Given the description of an element on the screen output the (x, y) to click on. 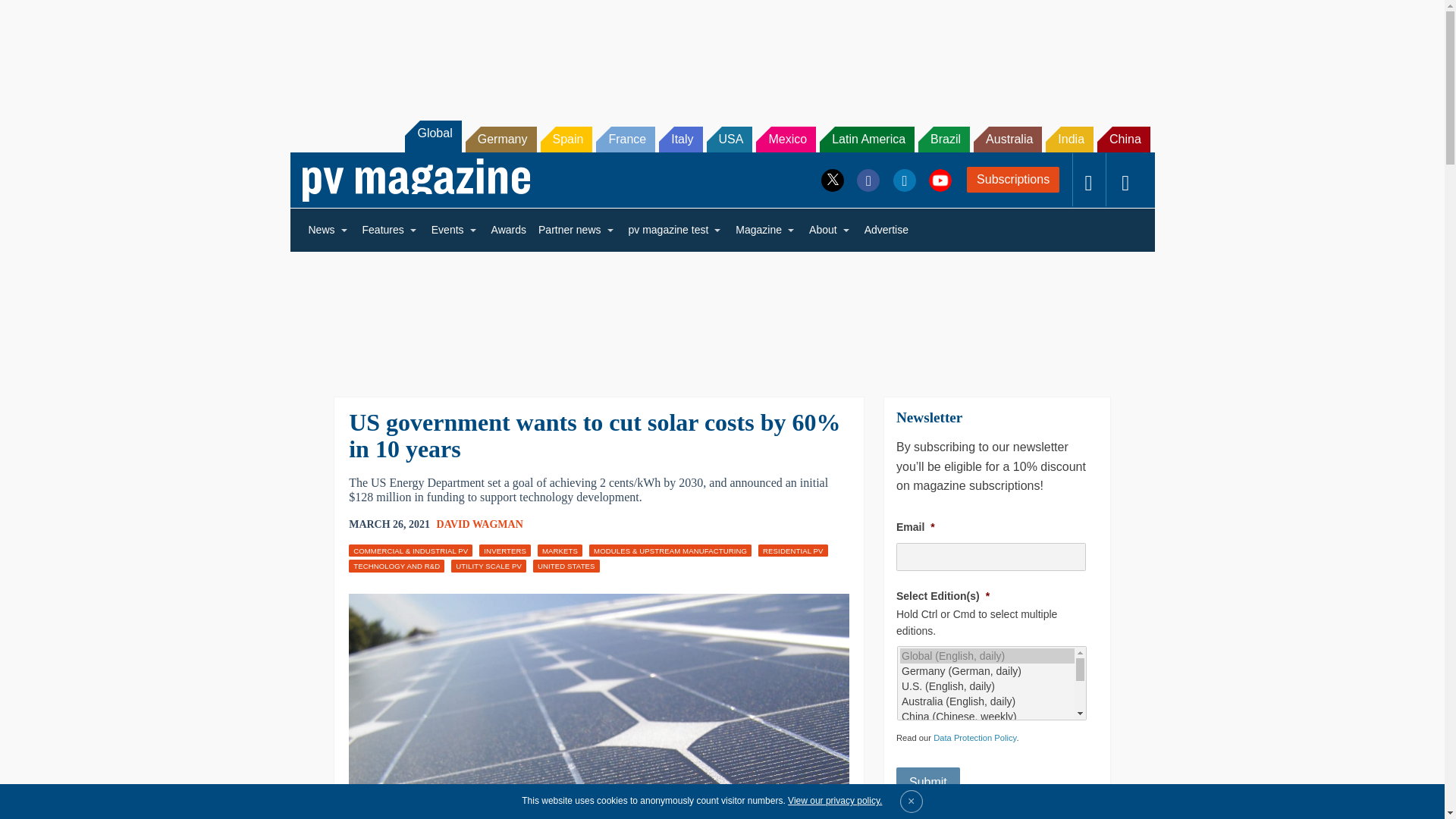
Friday, March 26, 2021, 2:15 pm (389, 524)
Italy (680, 139)
Germany (501, 139)
pv magazine - Photovoltaics Markets and Technology (415, 180)
3rd party ad content (721, 314)
Australia (1008, 139)
India (1069, 139)
Brazil (943, 139)
Submit (927, 782)
Posts by David Wagman (479, 523)
pv magazine - Photovoltaics Markets and Technology (415, 179)
Global (432, 136)
3rd party ad content (721, 51)
Search (32, 15)
France (625, 139)
